Given the description of an element on the screen output the (x, y) to click on. 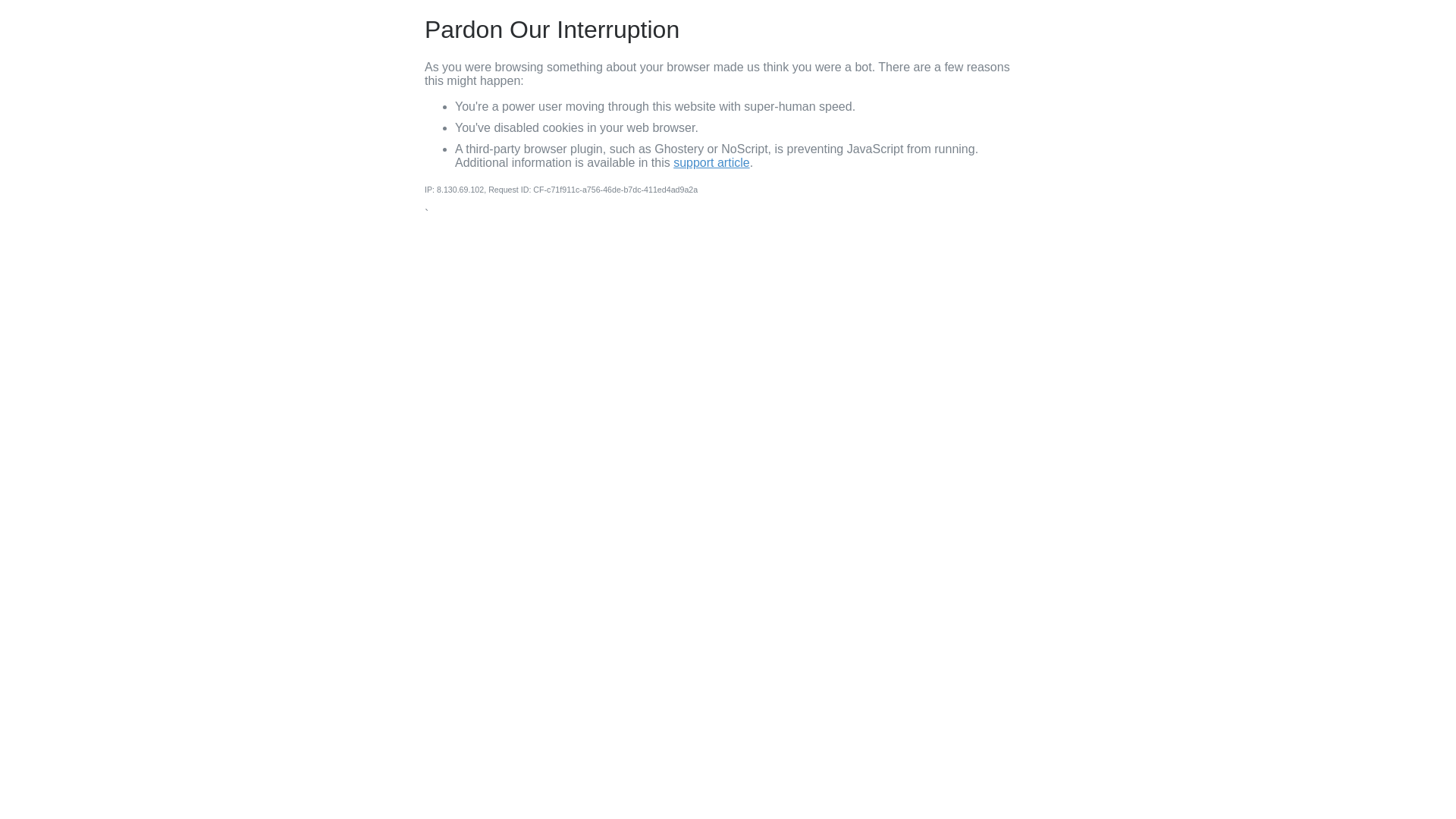
support article Element type: text (711, 162)
